Given the description of an element on the screen output the (x, y) to click on. 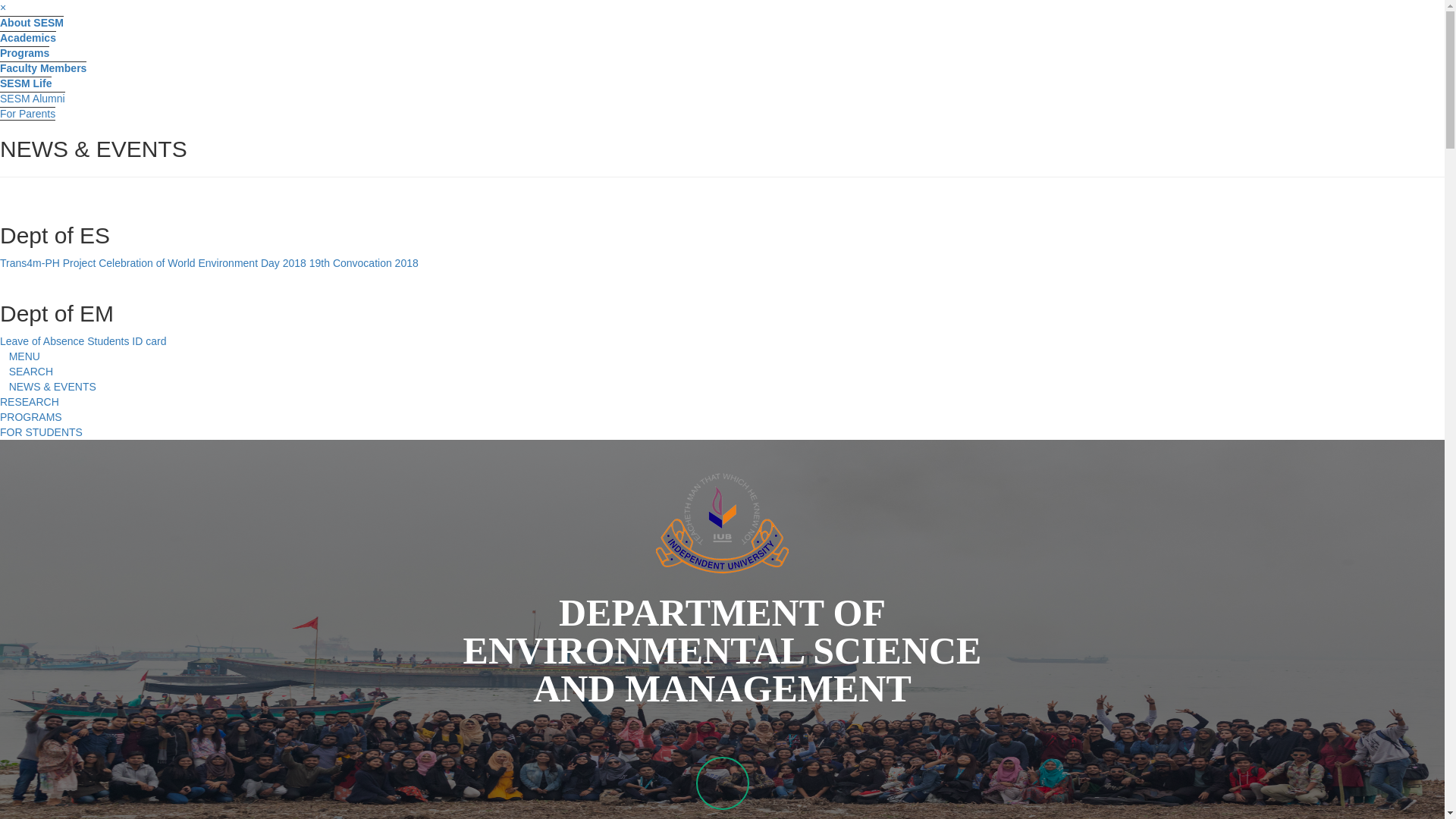
   SEARCH Element type: text (722, 371)
   SEARCH Element type: text (26, 371)
SESM Alumni Element type: text (32, 97)
SESM Life Element type: text (25, 82)
FOR STUDENTS Element type: text (41, 432)
Students ID card Element type: text (126, 341)
Programs Element type: text (24, 52)
For Parents Element type: text (27, 113)
Trans4m-PH Project Element type: text (49, 263)
   NEWS & EVENTS Element type: text (722, 386)
About SESM Element type: text (31, 21)
   MENU Element type: text (722, 356)
Faculty Members Element type: text (43, 67)
   MENU Element type: text (20, 356)
   NEWS & EVENTS Element type: text (48, 386)
19th Convocation 2018 Element type: text (363, 263)
Celebration of World Environment Day 2018 Element type: text (202, 263)
Leave of Absence Element type: text (42, 341)
PROGRAMS Element type: text (31, 417)
Academics Element type: text (28, 37)
RESEARCH Element type: text (29, 401)
